Given the description of an element on the screen output the (x, y) to click on. 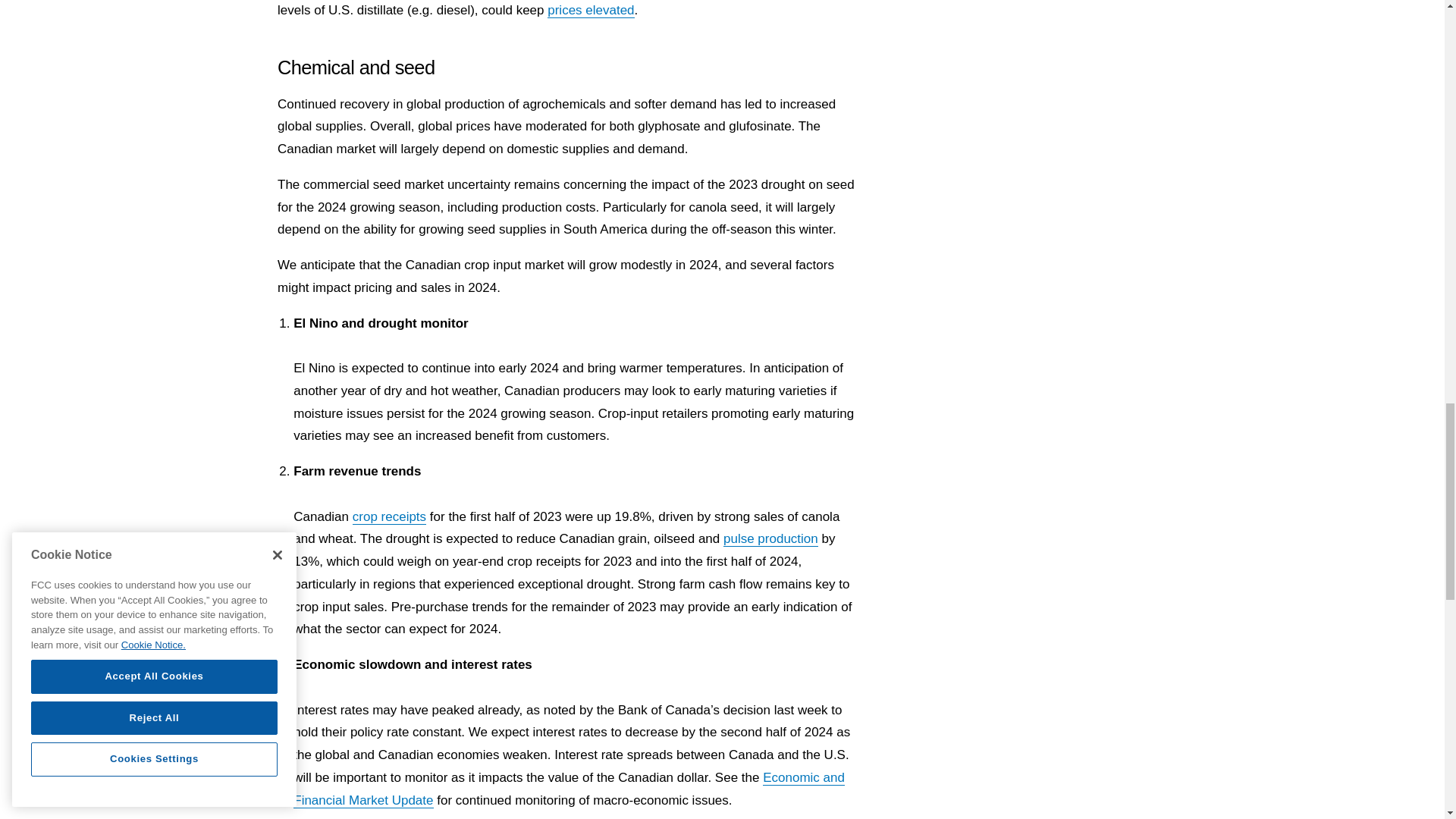
prices elevated (590, 10)
crop receipts (389, 516)
pulse production (770, 539)
Economic and Financial Market Update (569, 789)
